Given the description of an element on the screen output the (x, y) to click on. 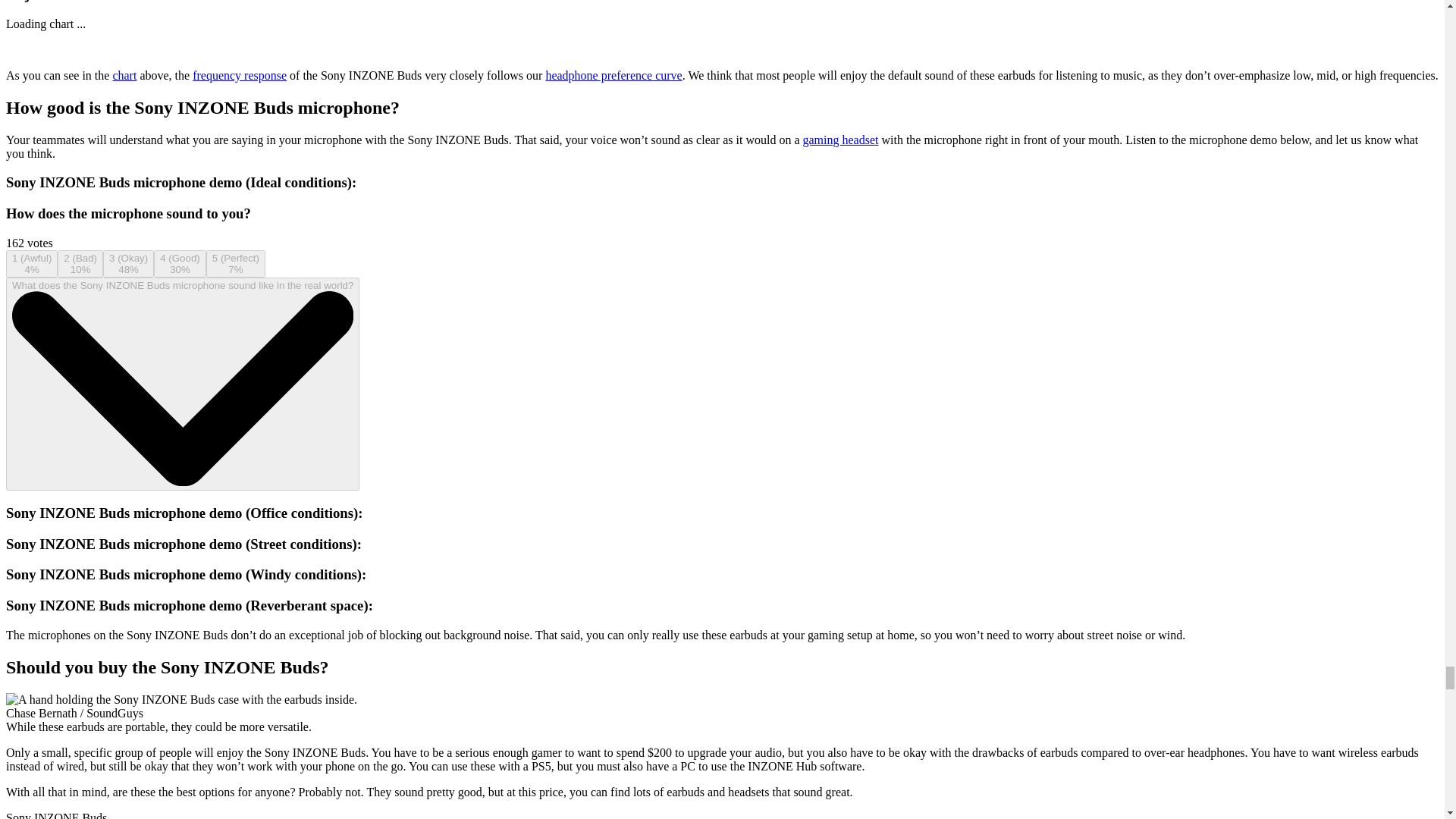
Sony INZONE Buds in hand (180, 699)
